Given the description of an element on the screen output the (x, y) to click on. 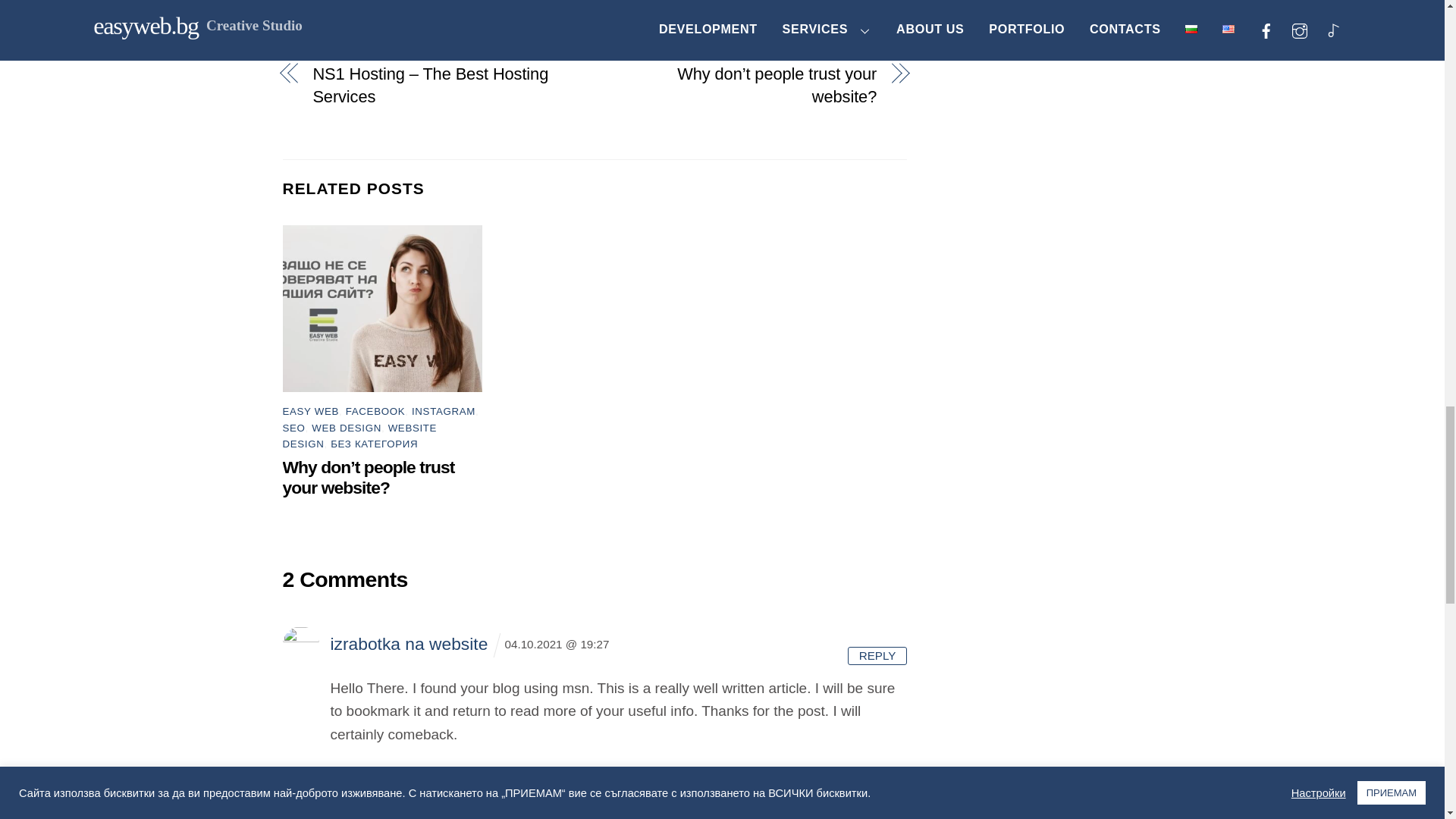
izrabotka na website (408, 802)
INSTAGRAM (444, 410)
FACEBOOK (375, 410)
WEBSITE DESIGN (359, 435)
REPLY (877, 656)
izrabotka na website (408, 643)
Facebook (320, 5)
SEO (293, 428)
REPLY (877, 812)
Click to share on Facebook (320, 5)
